Given the description of an element on the screen output the (x, y) to click on. 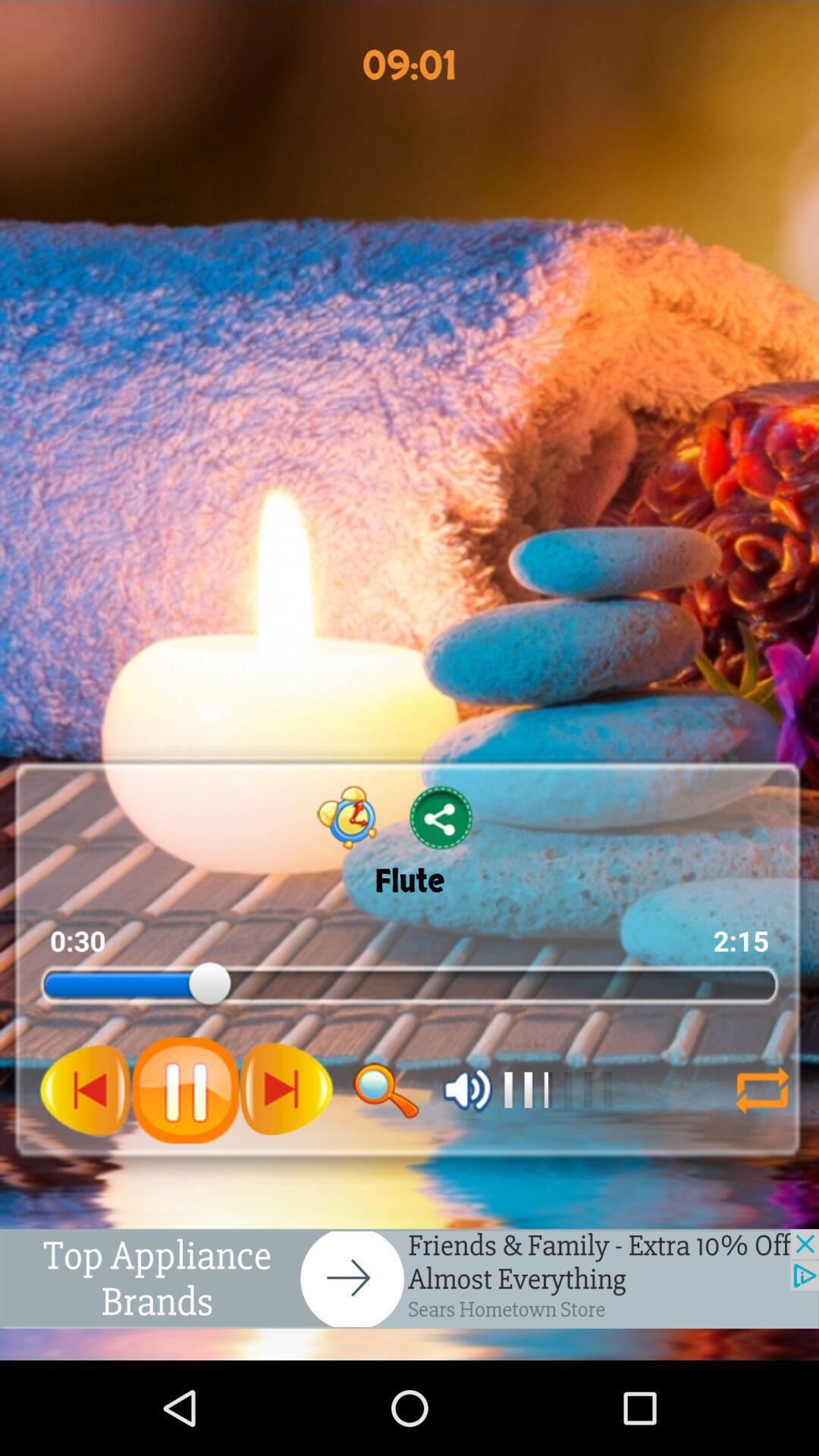
search (386, 1090)
